Given the description of an element on the screen output the (x, y) to click on. 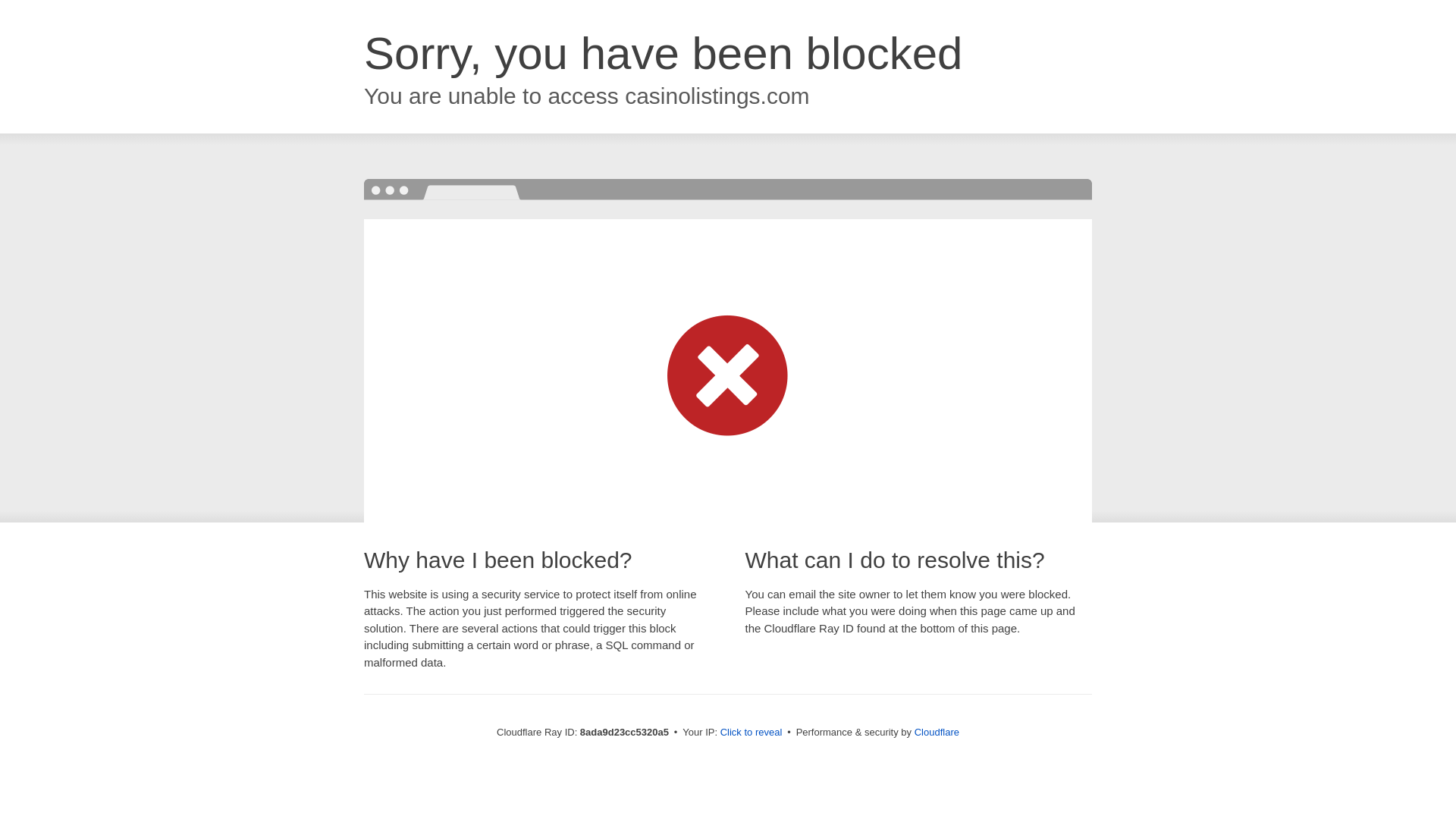
Cloudflare (936, 731)
Click to reveal (751, 732)
